Given the description of an element on the screen output the (x, y) to click on. 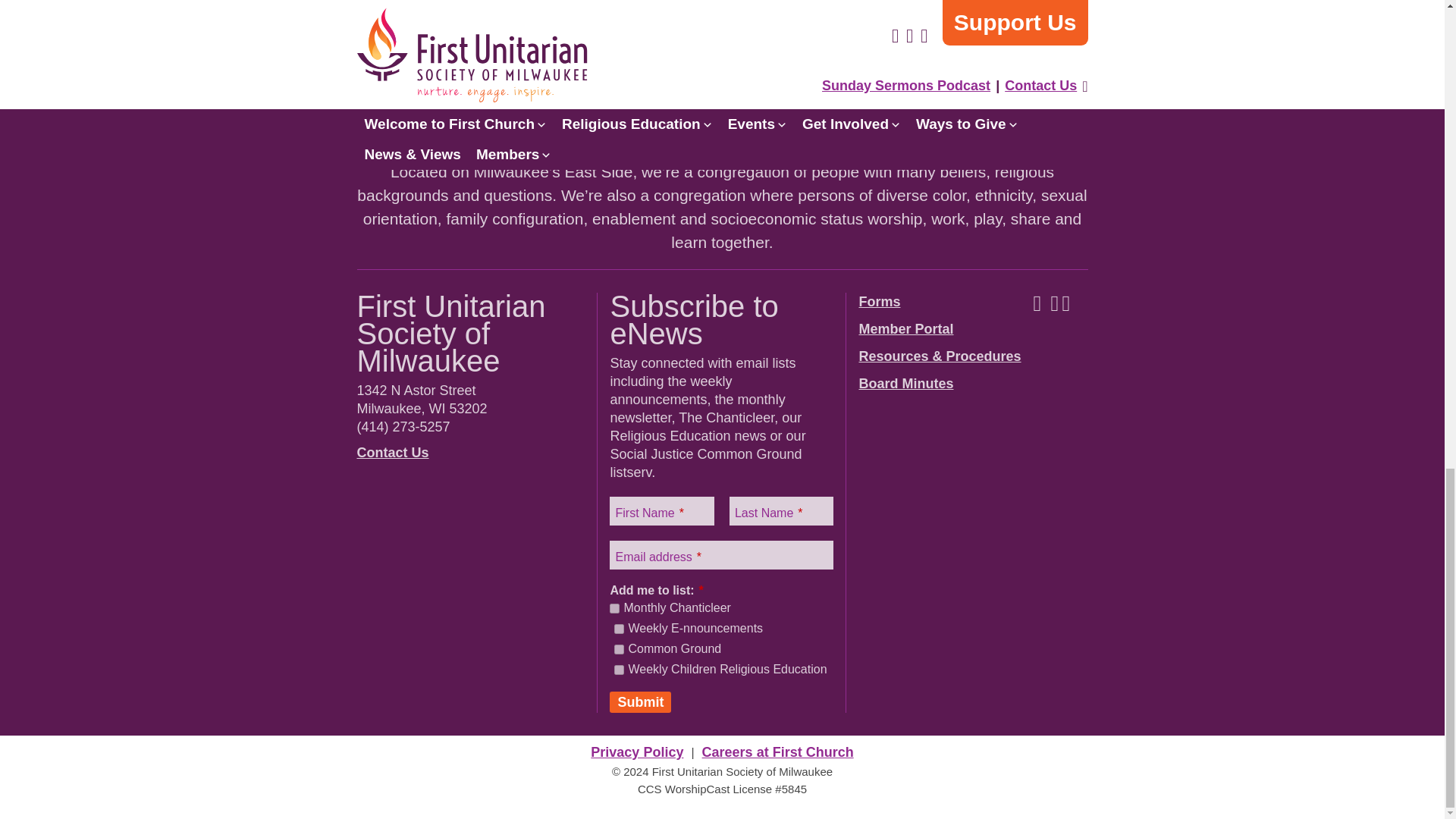
Chanticleer (615, 608)
E-nnouncements (619, 628)
Common Ground (619, 649)
Submit (640, 701)
CRE Families (619, 669)
